Given the description of an element on the screen output the (x, y) to click on. 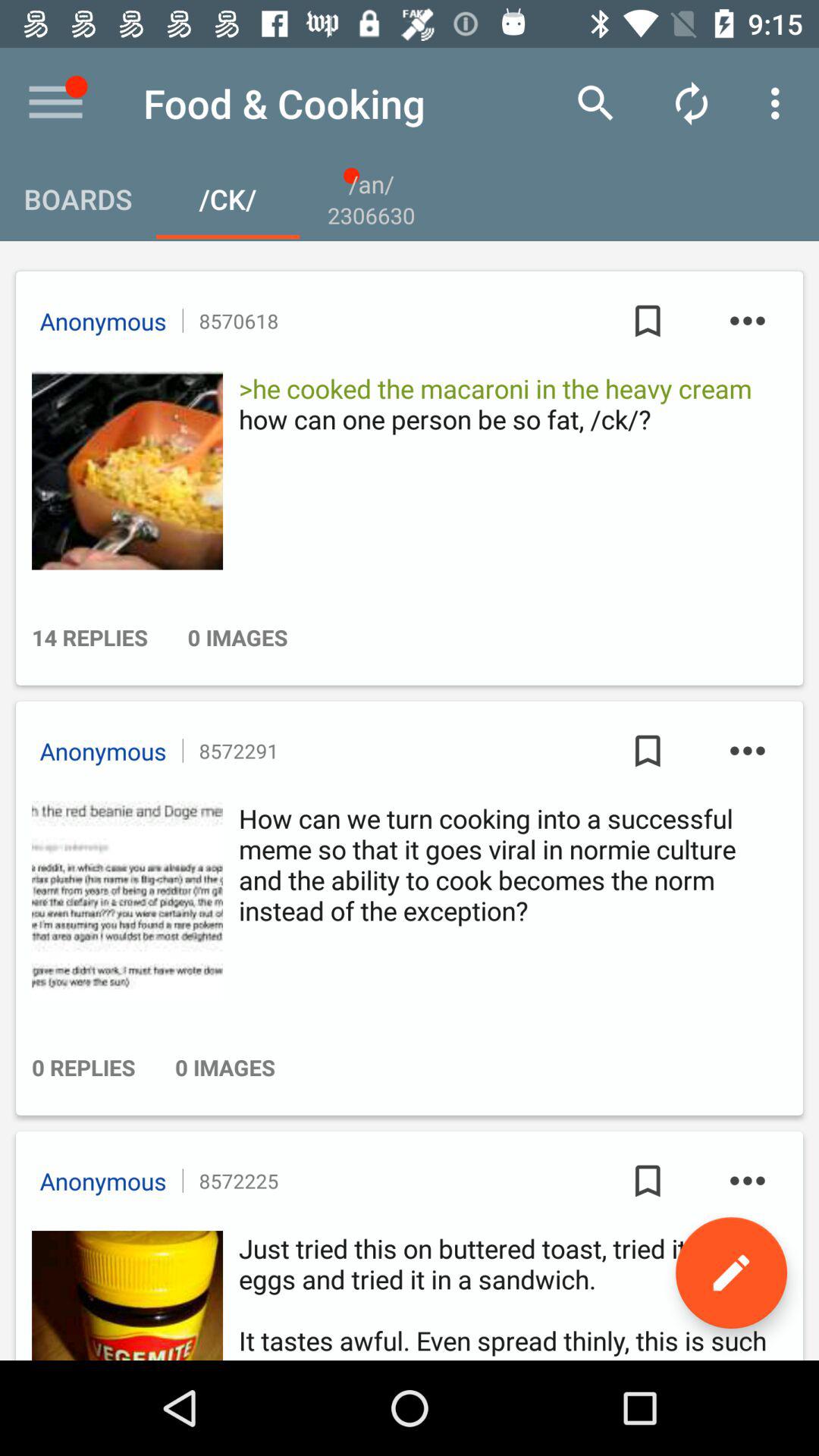
edit option (731, 1272)
